Given the description of an element on the screen output the (x, y) to click on. 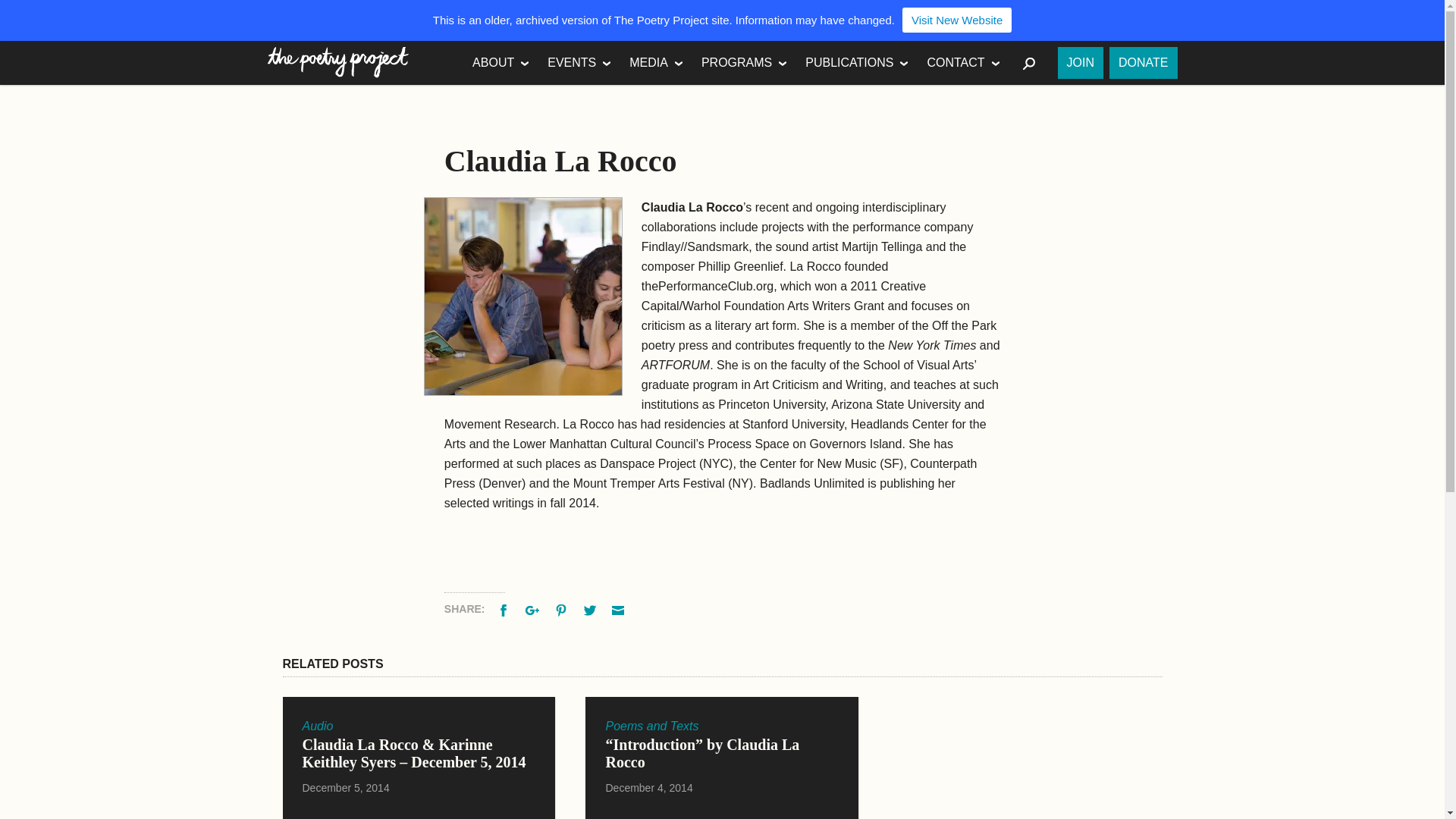
DONATE (1142, 62)
Facebook (504, 608)
SEARCH (1030, 62)
Facebook (504, 608)
CONTACT (963, 62)
The Poetry Project (336, 61)
MEDIA (656, 62)
Pinterest (562, 608)
Email (619, 608)
EVENTS (579, 62)
ABOUT (500, 62)
JOIN (1080, 62)
PUBLICATIONS (856, 62)
Tweet (590, 608)
PROGRAMS (744, 62)
